Given the description of an element on the screen output the (x, y) to click on. 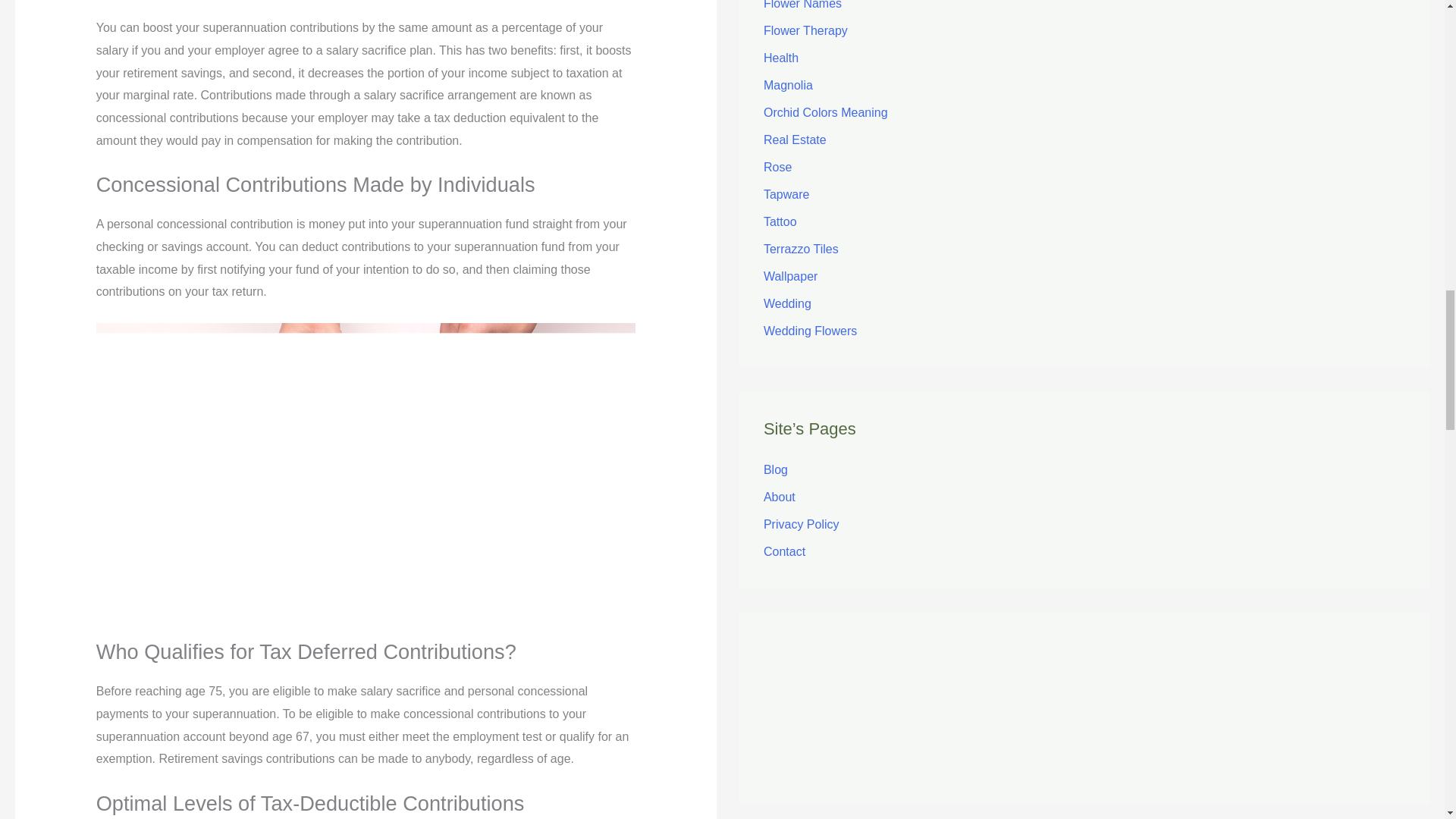
YouTube video player (1083, 694)
